Given the description of an element on the screen output the (x, y) to click on. 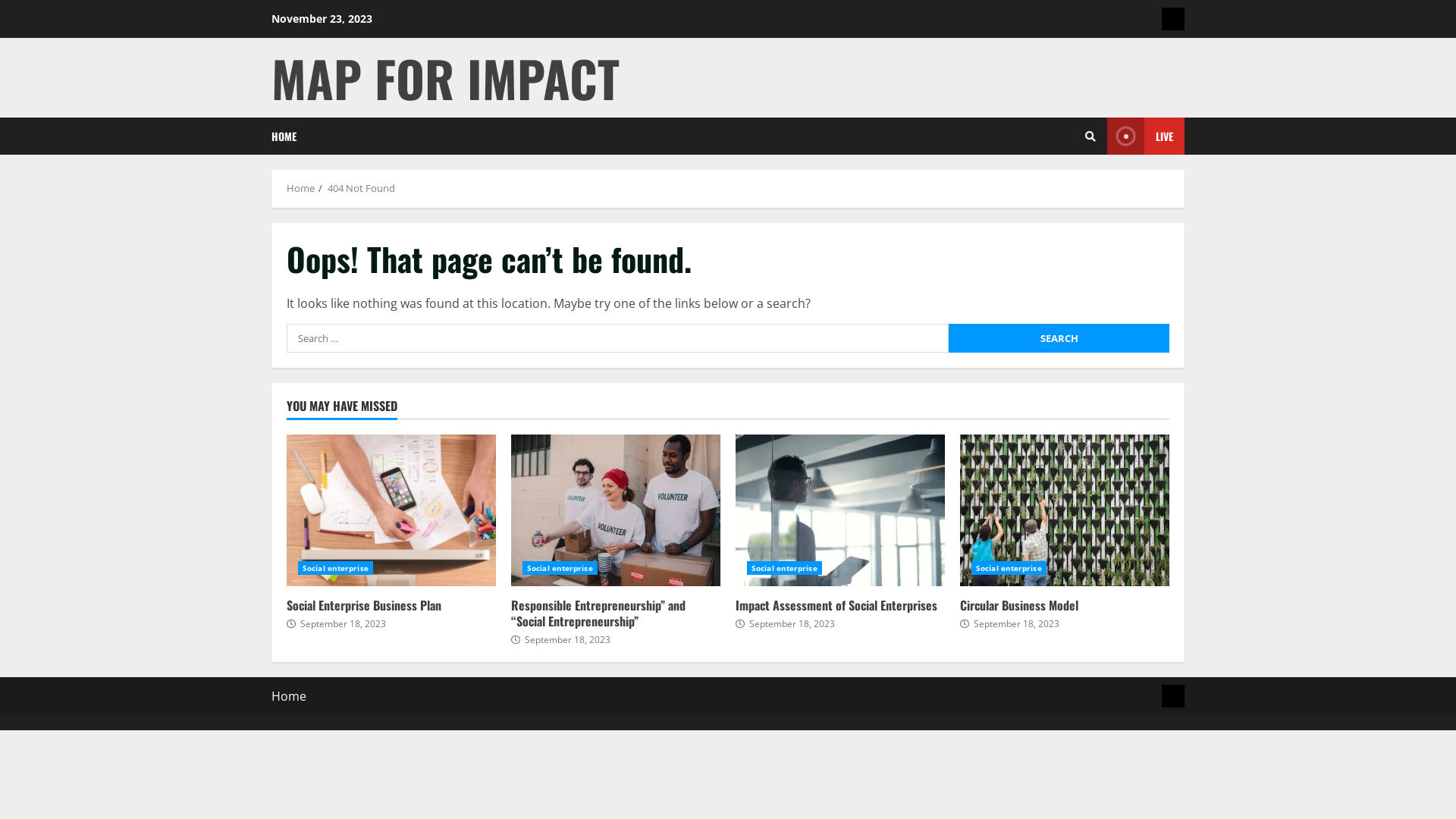
Social enterprise Element type: text (559, 567)
Search Element type: text (1057, 187)
Home Element type: text (300, 187)
Social enterprise Element type: text (1008, 567)
LIVE Element type: text (1145, 135)
Circular Business Model Element type: text (1019, 605)
Home Element type: text (1172, 18)
Social Enterprise Business Plan Element type: text (363, 605)
Social enterprise Element type: text (784, 567)
Social enterprise Element type: text (335, 567)
MAP FOR IMPACT Element type: text (445, 77)
Impact Assessment of Social Enterprises Element type: text (836, 605)
Home Element type: text (288, 695)
Social Enterprise Business Plan Element type: text (390, 510)
Search Element type: hover (1090, 135)
404 Not Found Element type: text (361, 187)
Impact Assessment of Social Enterprises Element type: text (839, 510)
Circular Business Model Element type: text (1064, 510)
HOME Element type: text (283, 135)
Home Element type: text (1172, 695)
Search Element type: text (1058, 337)
